Given the description of an element on the screen output the (x, y) to click on. 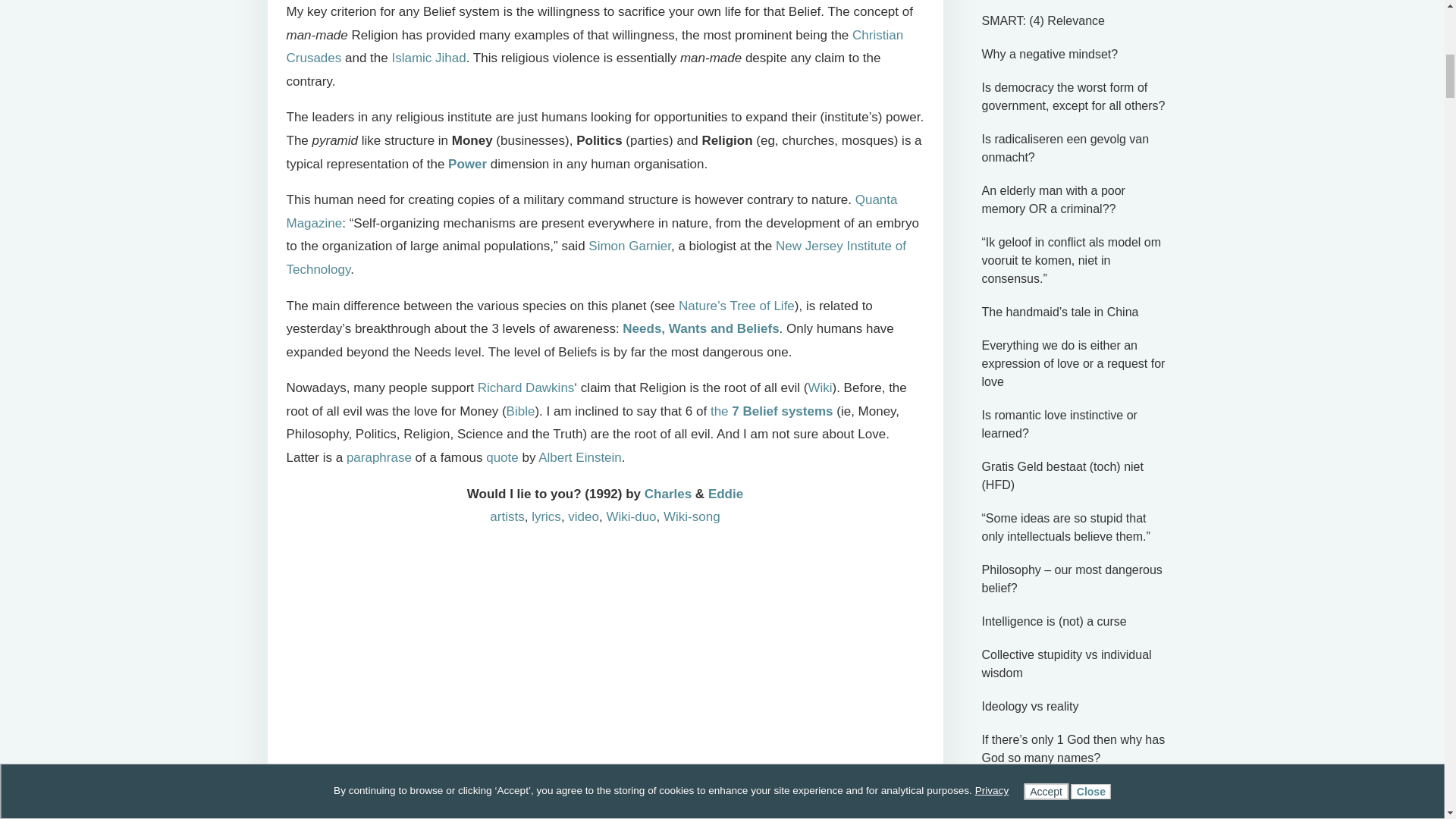
Islamic Jihad (428, 57)
New Jersey Institute of Technology (595, 257)
Power (467, 164)
Quanta Magazine (592, 211)
ier (664, 246)
Needs, Wants and Beliefs (700, 328)
Christian Crusades (595, 46)
Simon Gar (618, 246)
